Given the description of an element on the screen output the (x, y) to click on. 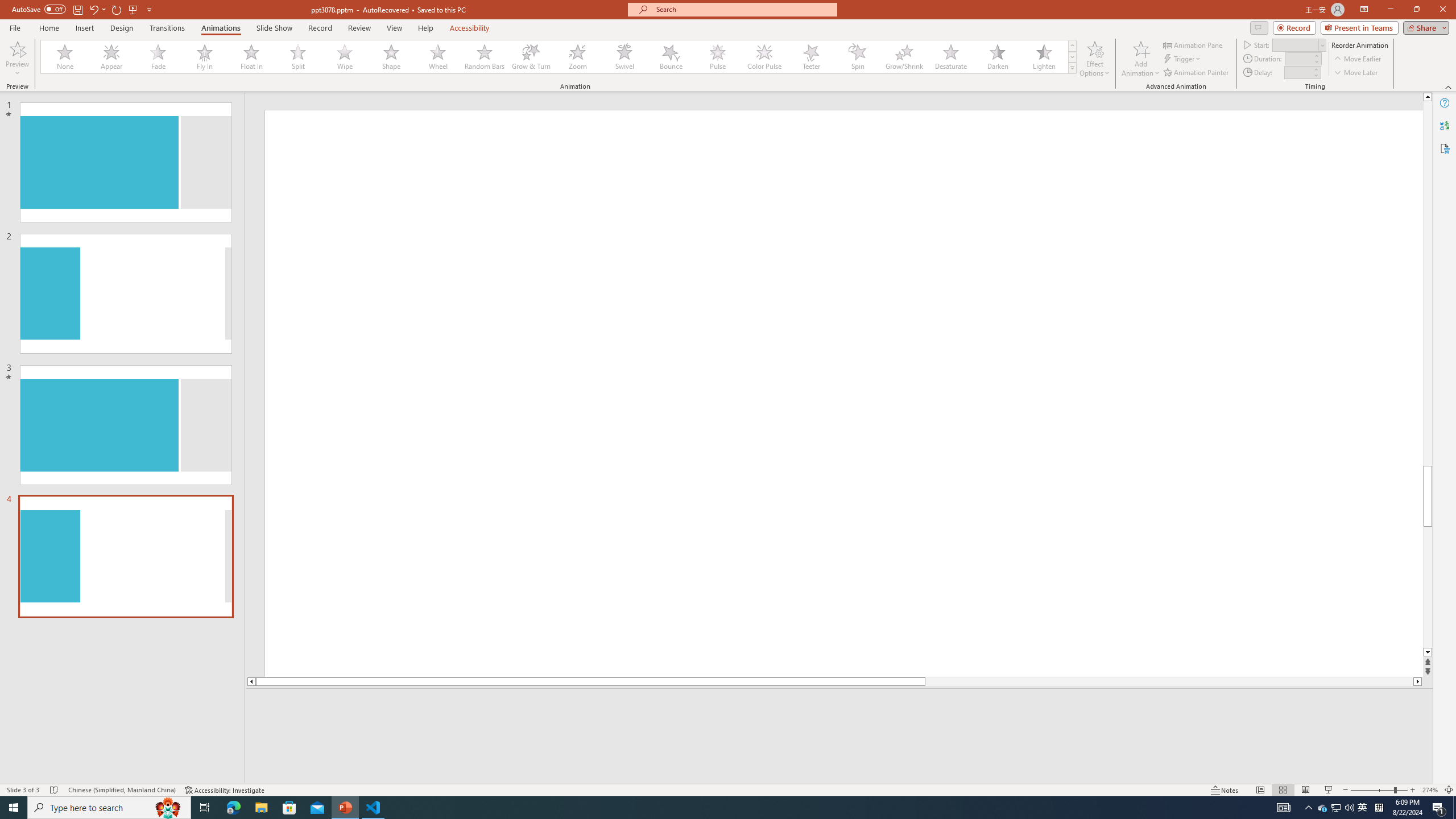
Random Bars (484, 56)
Page up (1427, 283)
Lighten (1043, 56)
Move Earlier (1357, 58)
Wheel (437, 56)
Grow/Shrink (903, 56)
